Given the description of an element on the screen output the (x, y) to click on. 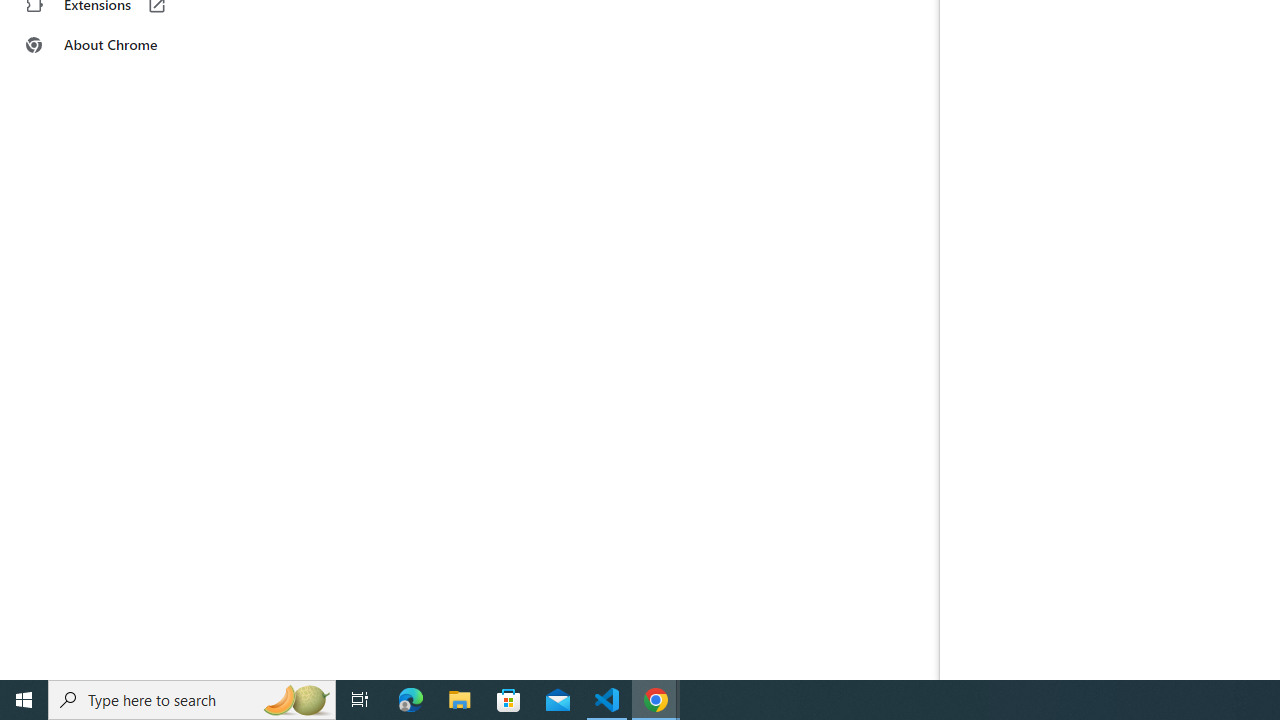
About Chrome (124, 44)
